Given the description of an element on the screen output the (x, y) to click on. 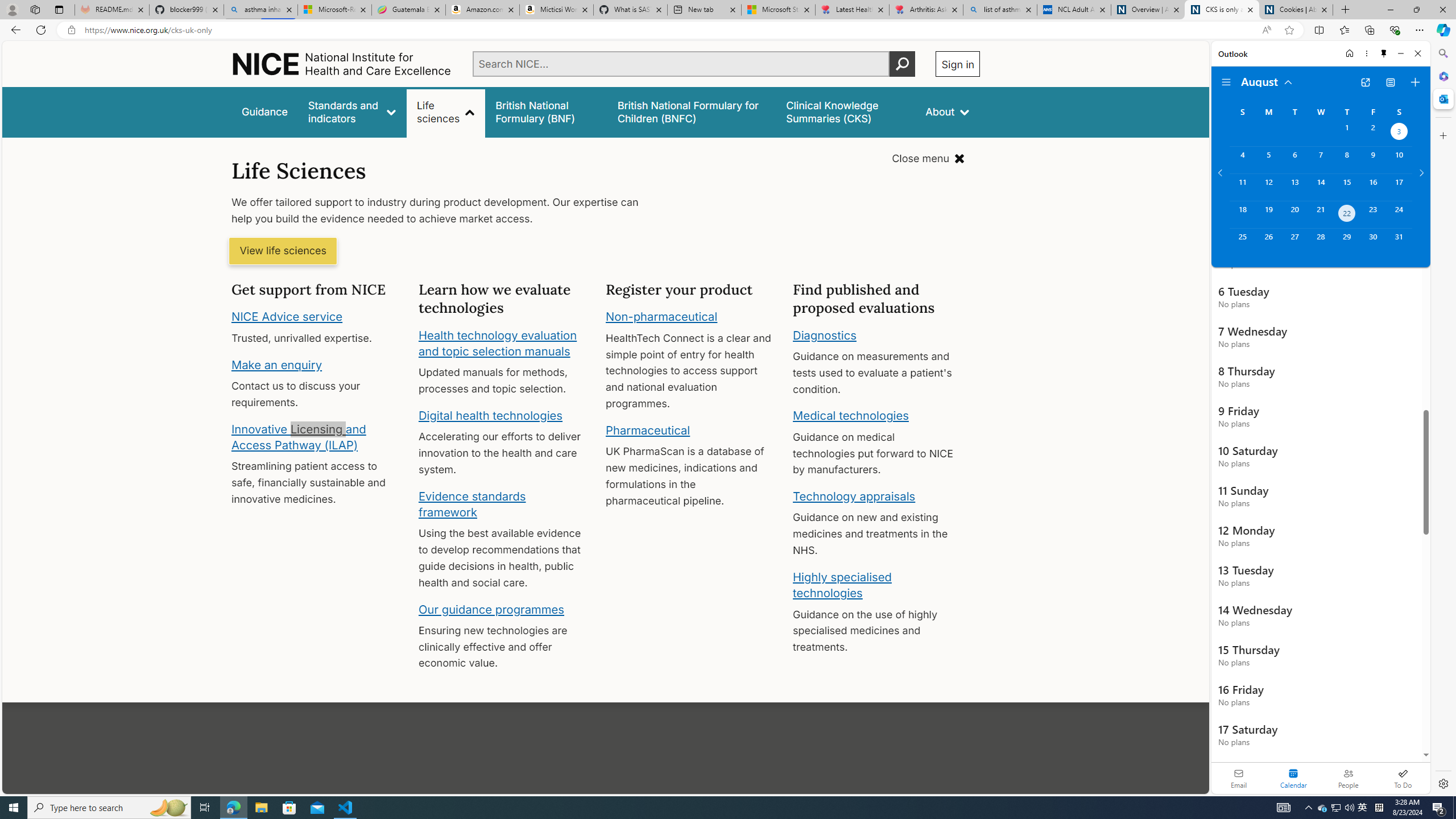
Arthritis: Ask Health Professionals (925, 9)
People (1347, 777)
Guidance (264, 111)
Saturday, August 17, 2024.  (1399, 186)
Tuesday, August 27, 2024.  (1294, 241)
Monday, August 5, 2024.  (1268, 159)
Saturday, August 10, 2024.  (1399, 159)
NCL Adult Asthma Inhaler Choice Guideline (1073, 9)
